Given the description of an element on the screen output the (x, y) to click on. 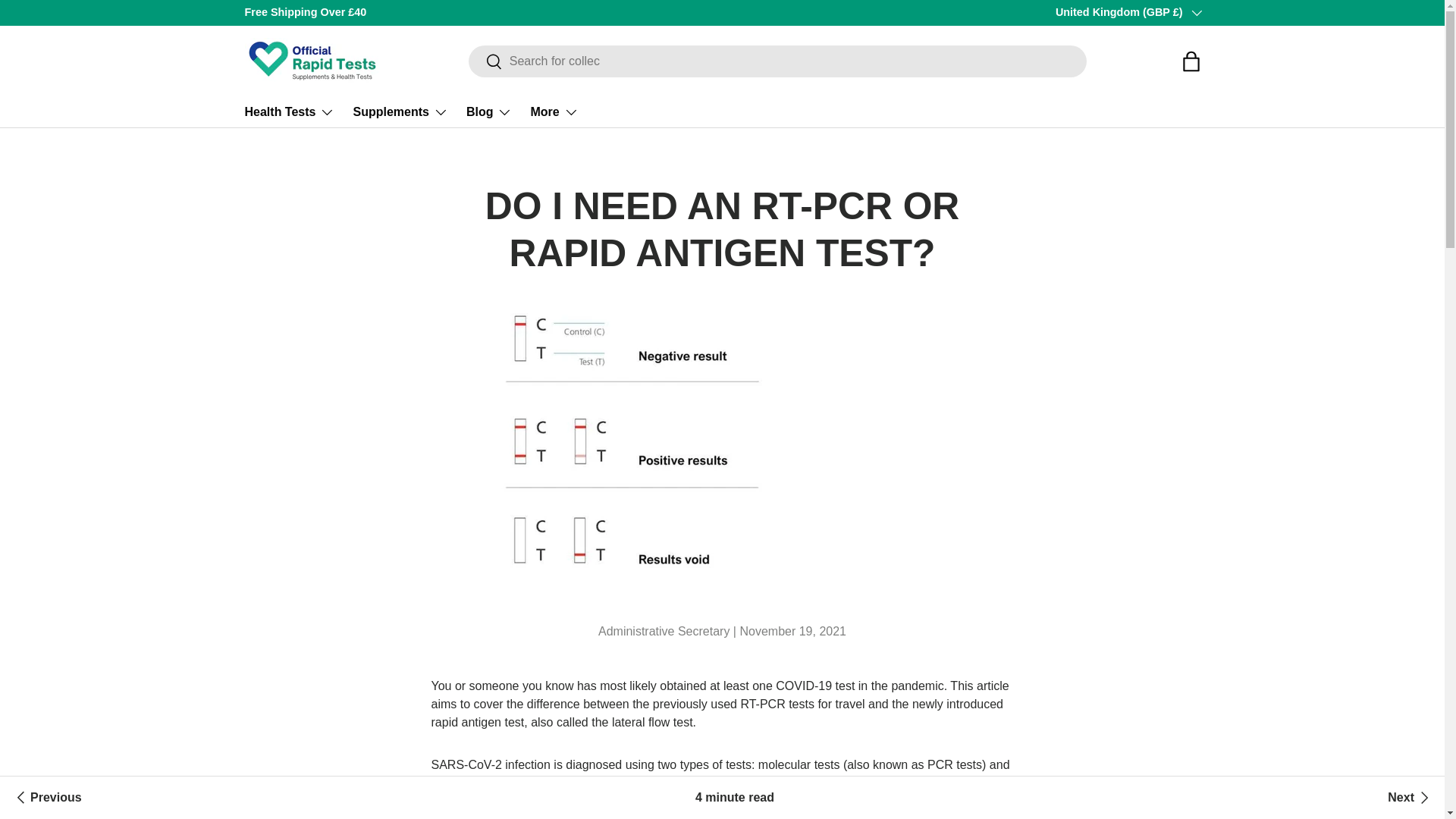
Bag (1190, 61)
Search (485, 62)
Skip to content (69, 21)
COVID-19: What is Herd Immunity, and how does it work? (1409, 797)
Saudi Arabia Medical (46, 797)
Health Tests (289, 112)
